Given the description of an element on the screen output the (x, y) to click on. 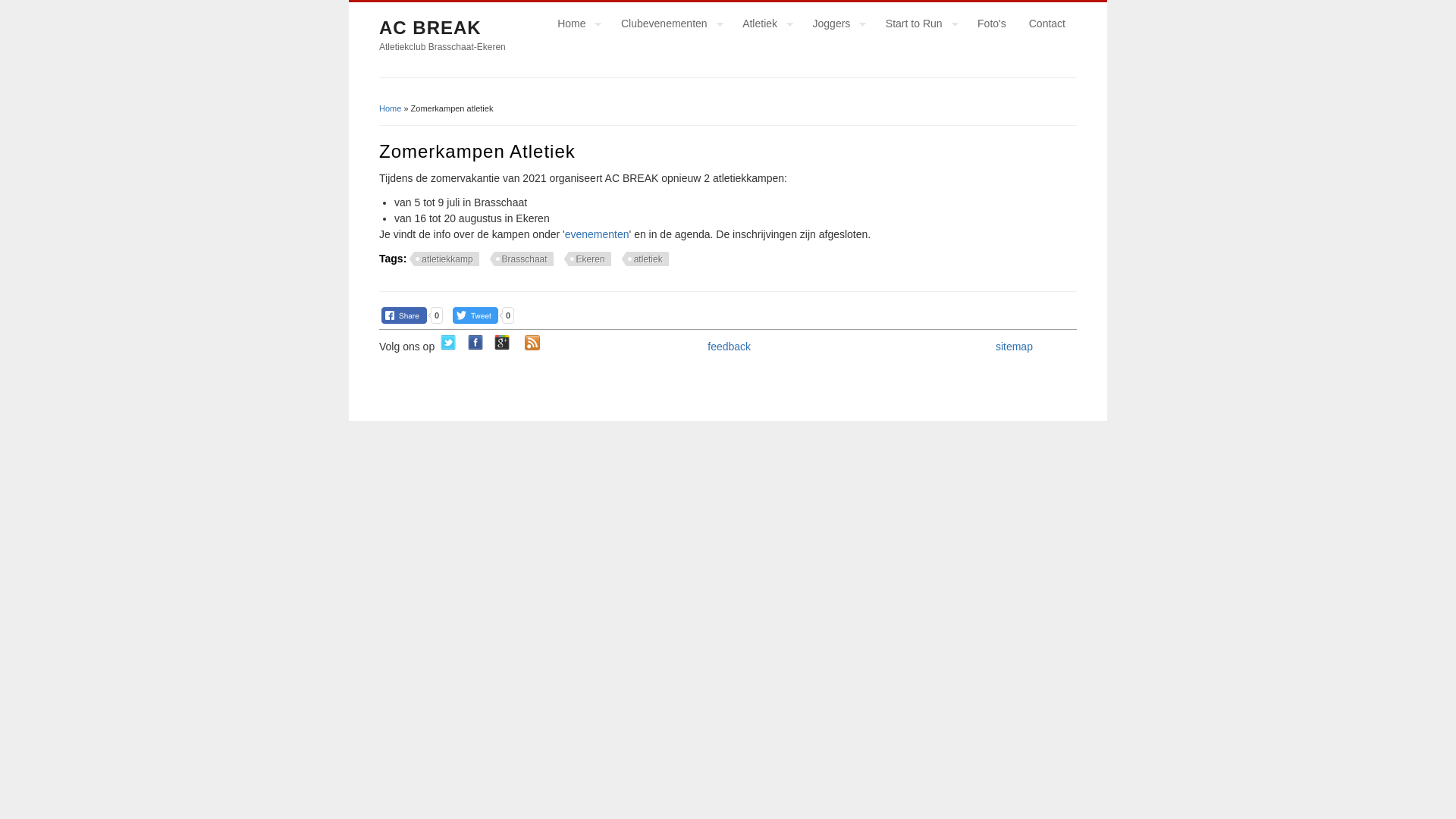
Foto's Element type: text (991, 23)
atletiek Element type: text (644, 259)
sitemap Element type: text (1013, 346)
Ekeren Element type: text (587, 259)
evenementen Element type: text (596, 234)
atletiekkamp Element type: text (443, 259)
feedback Element type: text (728, 346)
Contact Element type: text (1046, 23)
Brasschaat Element type: text (521, 259)
Home Element type: text (390, 107)
AC BREAK Element type: text (430, 27)
